Given the description of an element on the screen output the (x, y) to click on. 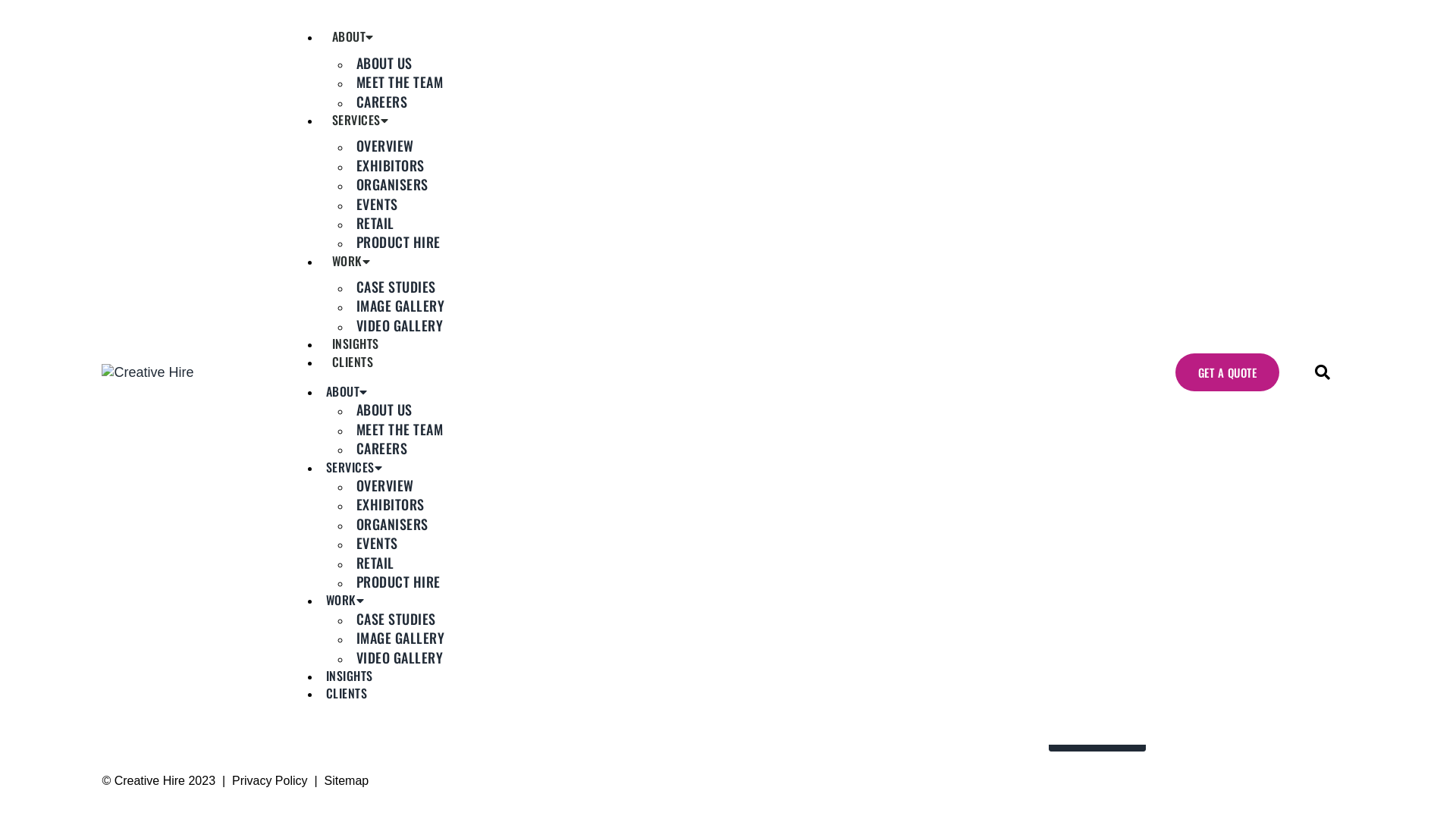
CASE STUDIES Element type: text (396, 286)
Sitemap Element type: text (345, 780)
ABOUT US Element type: text (384, 62)
VIDEO GALLERY Element type: text (399, 325)
ABOUT Element type: text (346, 391)
Form 1 Element type: hover (1197, 703)
SERVICES Element type: text (354, 466)
CLIENTS Element type: text (352, 361)
ORGANISERS Element type: text (392, 184)
EVENTS Element type: text (377, 203)
Contact Element type: text (132, 654)
OVERVIEW Element type: text (385, 485)
INSIGHTS Element type: text (349, 675)
CLIENTS Element type: text (346, 692)
WORK Element type: text (351, 260)
Privacy Policy Element type: text (269, 780)
ABOUT Element type: text (352, 36)
IMAGE GALLERY Element type: text (400, 305)
RETAIL Element type: text (375, 562)
GET A QUOTE Element type: text (1227, 372)
Facebook Element type: text (765, 672)
EXHIBITORS Element type: text (390, 165)
ABOUT US Element type: text (384, 409)
MEET THE TEAM Element type: text (399, 429)
Instagram Element type: text (765, 637)
RETAIL Element type: text (375, 222)
CAREERS Element type: text (382, 101)
CAREERS Element type: text (382, 448)
EVENTS Element type: text (377, 542)
OVERVIEW Element type: text (385, 145)
VIDEO GALLERY Element type: text (399, 657)
ORGANISERS Element type: text (392, 523)
WORK Element type: text (345, 599)
CASE STUDIES Element type: text (396, 618)
SERVICES Element type: text (360, 119)
INSIGHTS Element type: text (355, 343)
MEET THE TEAM Element type: text (399, 81)
PRODUCT HIRE Element type: text (398, 241)
Terms and Conditions Element type: text (175, 690)
EXHIBITORS Element type: text (390, 504)
Back to home Element type: text (728, 275)
IMAGE GALLERY Element type: text (400, 637)
LinkedIn Element type: text (761, 654)
PRODUCT HIRE Element type: text (398, 581)
